Given the description of an element on the screen output the (x, y) to click on. 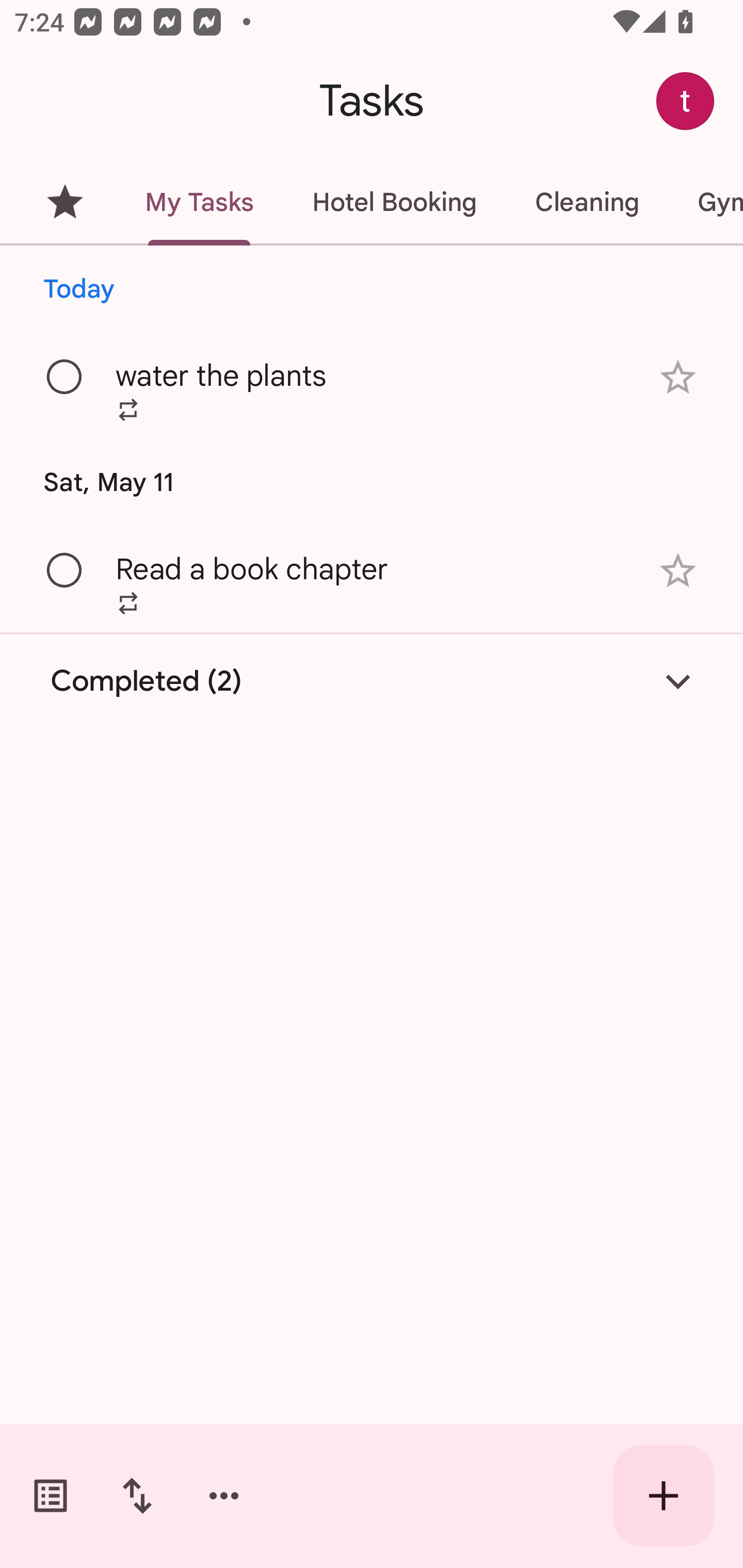
Starred (64, 202)
Hotel Booking (394, 202)
Cleaning (586, 202)
Add star (677, 376)
Mark as complete (64, 377)
Add star (677, 571)
Mark as complete (64, 570)
Completed (2) (371, 681)
Switch task lists (50, 1495)
Create new task (663, 1495)
Change sort order (136, 1495)
More options (223, 1495)
